Given the description of an element on the screen output the (x, y) to click on. 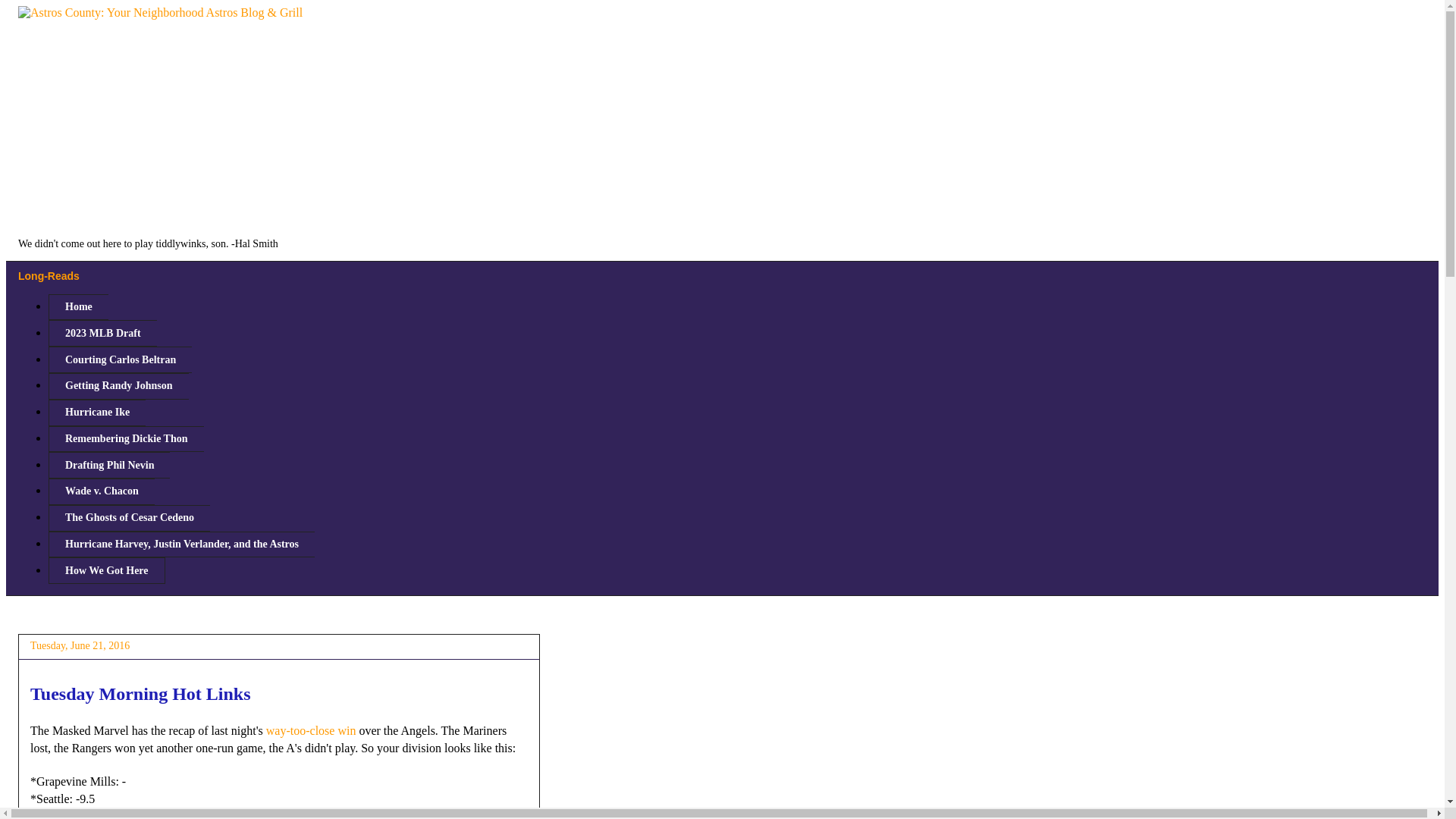
Drafting Phil Nevin (109, 465)
Home (77, 307)
Hurricane Ike (96, 412)
Courting Carlos Beltran (120, 359)
2023 MLB Draft (102, 333)
How We Got Here (106, 570)
Getting Randy Johnson (118, 386)
Wade v. Chacon (101, 491)
The Ghosts of Cesar Cedeno (128, 518)
Hurricane Harvey, Justin Verlander, and the Astros (181, 544)
Remembering Dickie Thon (125, 438)
way-too-close win (311, 730)
